Given the description of an element on the screen output the (x, y) to click on. 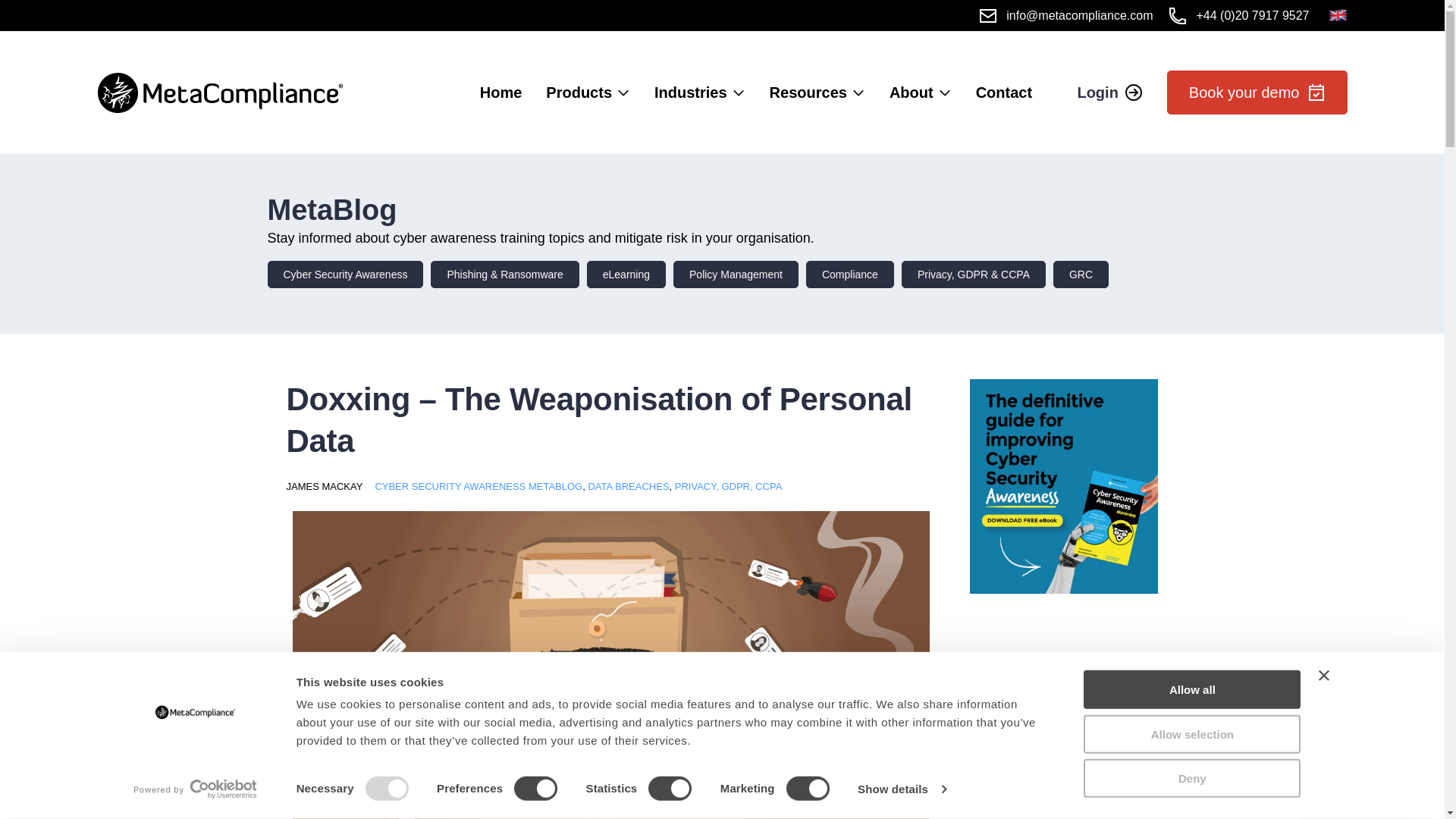
Show details (900, 789)
